Given the description of an element on the screen output the (x, y) to click on. 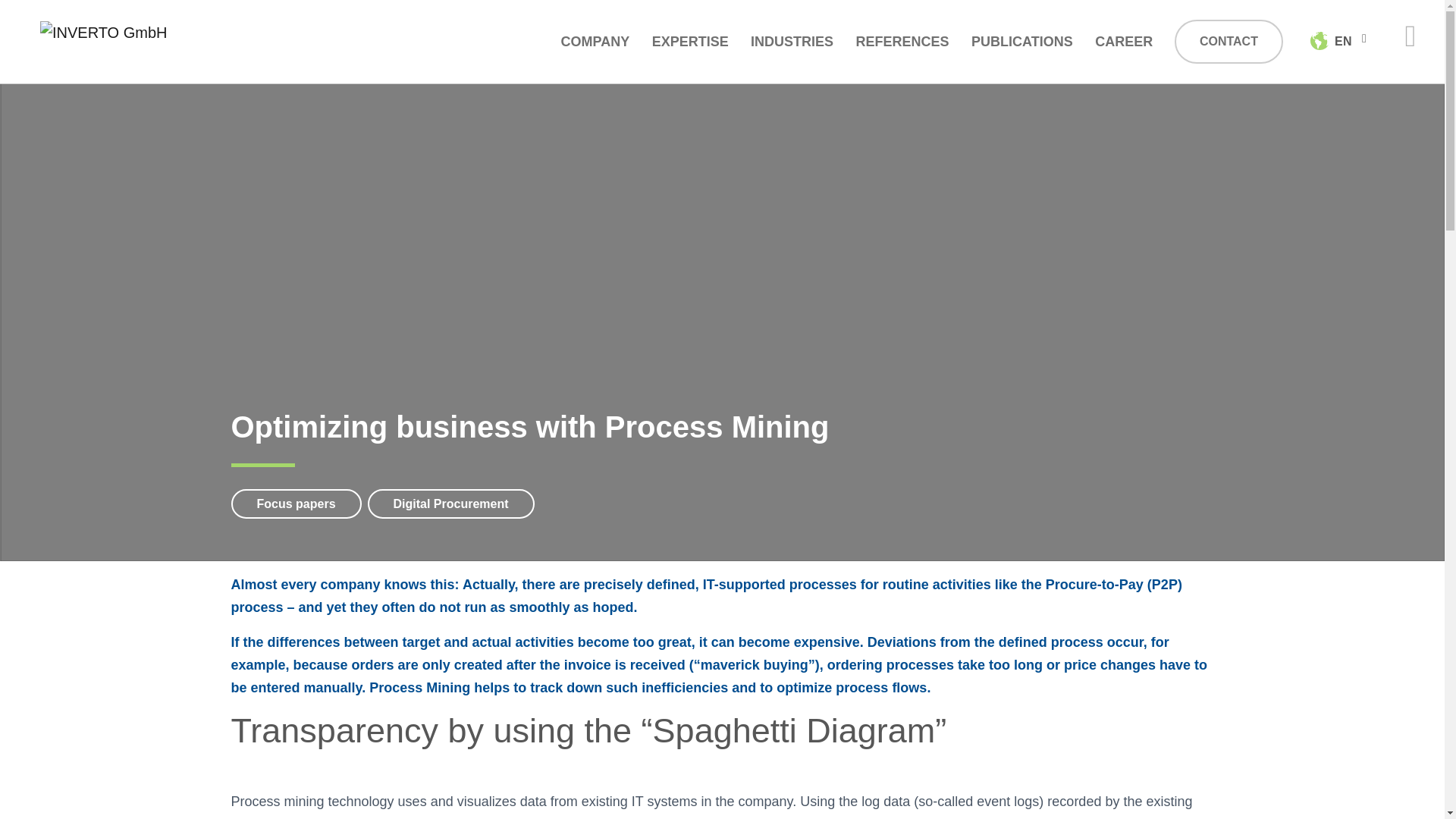
EN (1339, 41)
COMPANY (595, 41)
INDUSTRIES (791, 41)
en (1331, 41)
REFERENCES (901, 41)
PUBLICATIONS (1021, 41)
EXPERTISE (689, 41)
CAREER (1123, 41)
